Given the description of an element on the screen output the (x, y) to click on. 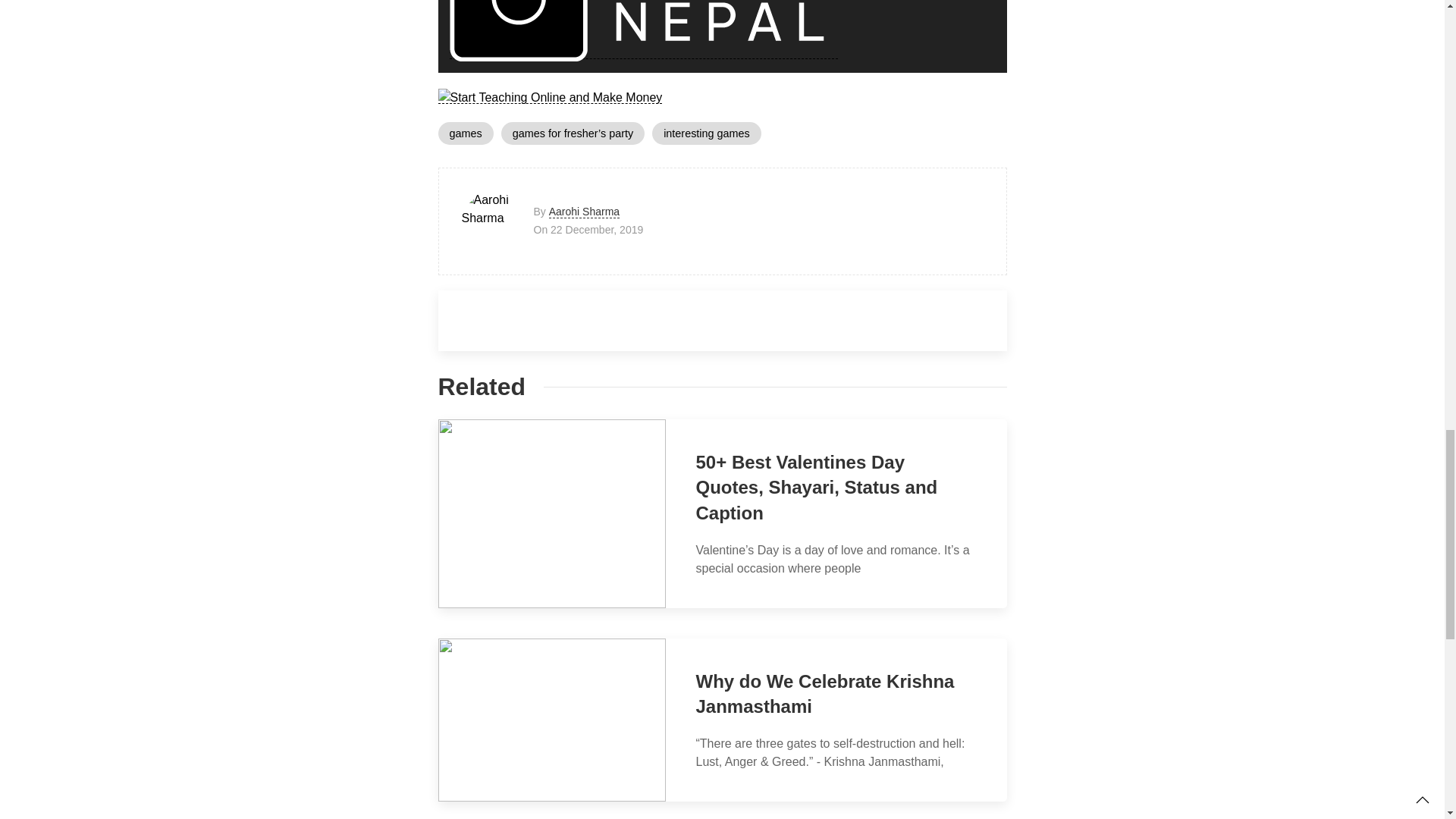
4 Interesting Games for the Fresher Party 3 (642, 30)
Start Teaching Online and Make Money (550, 97)
Why do We Celebrate Krishna Janmasthami (825, 693)
Aarohi Sharma (584, 211)
4 Interesting Games for the Fresher Party 4 (550, 97)
Related (481, 386)
